Given the description of an element on the screen output the (x, y) to click on. 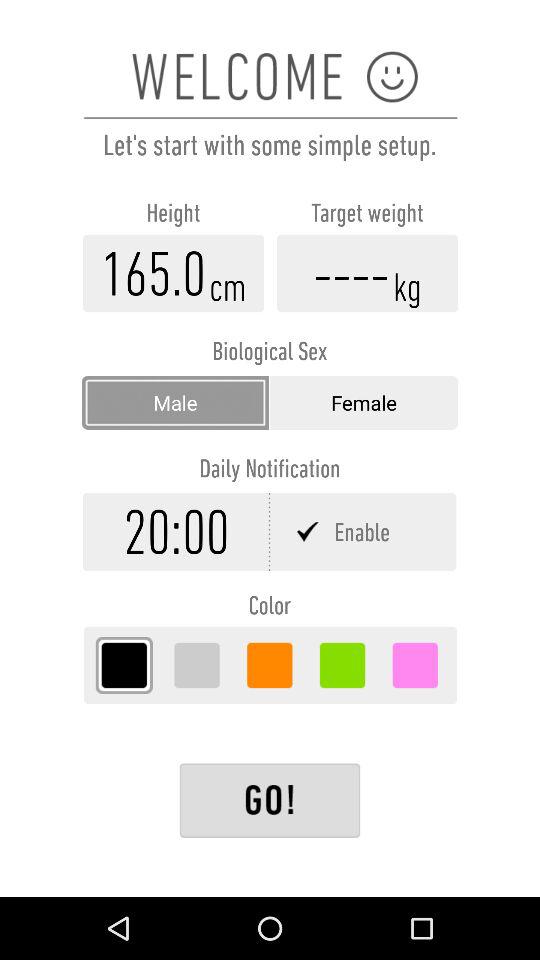
enable notification (363, 531)
